Given the description of an element on the screen output the (x, y) to click on. 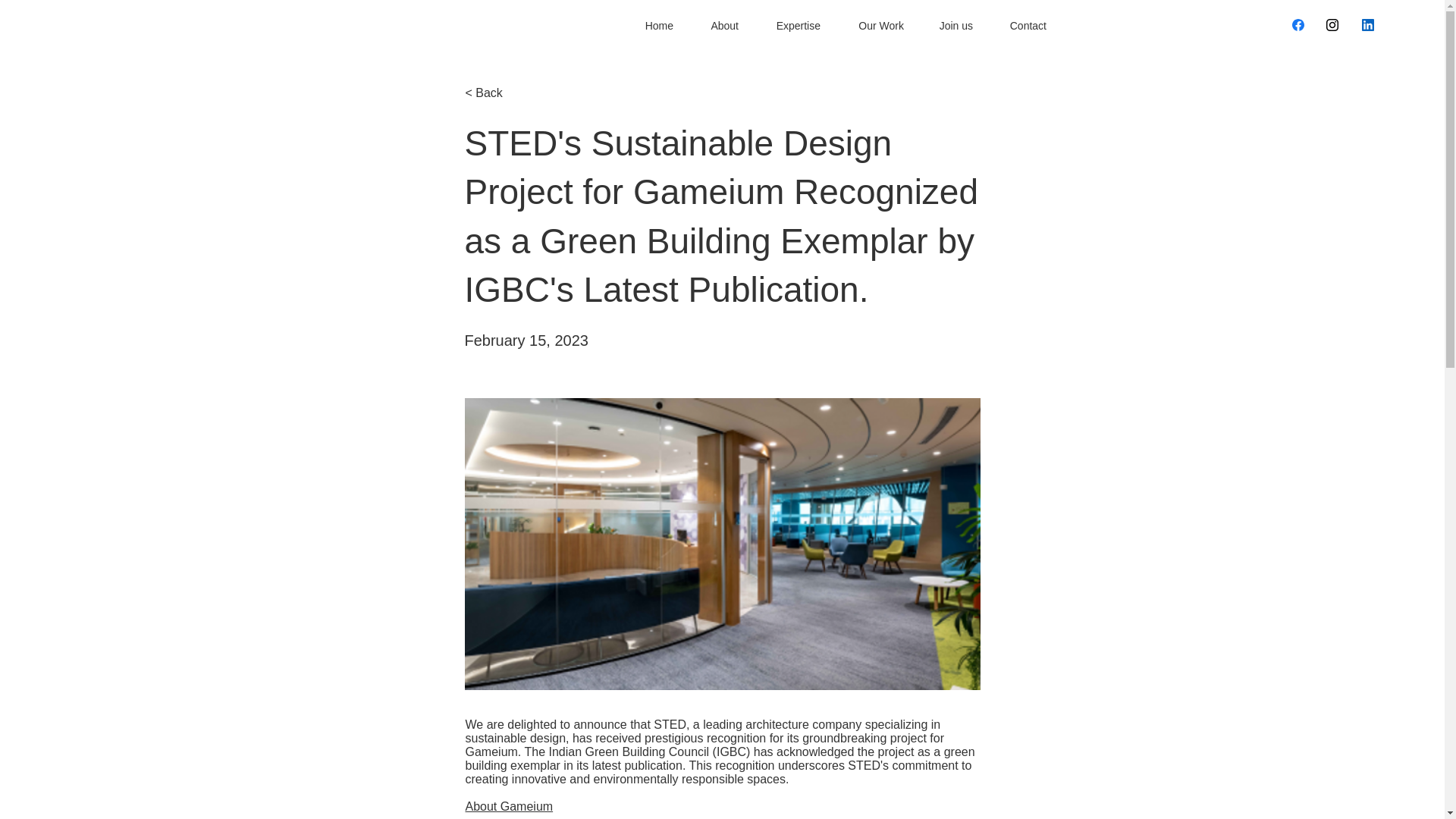
Expertise (790, 25)
Home (652, 25)
Our Work (873, 25)
Contact (1021, 25)
Join us (949, 25)
About (716, 25)
